Given the description of an element on the screen output the (x, y) to click on. 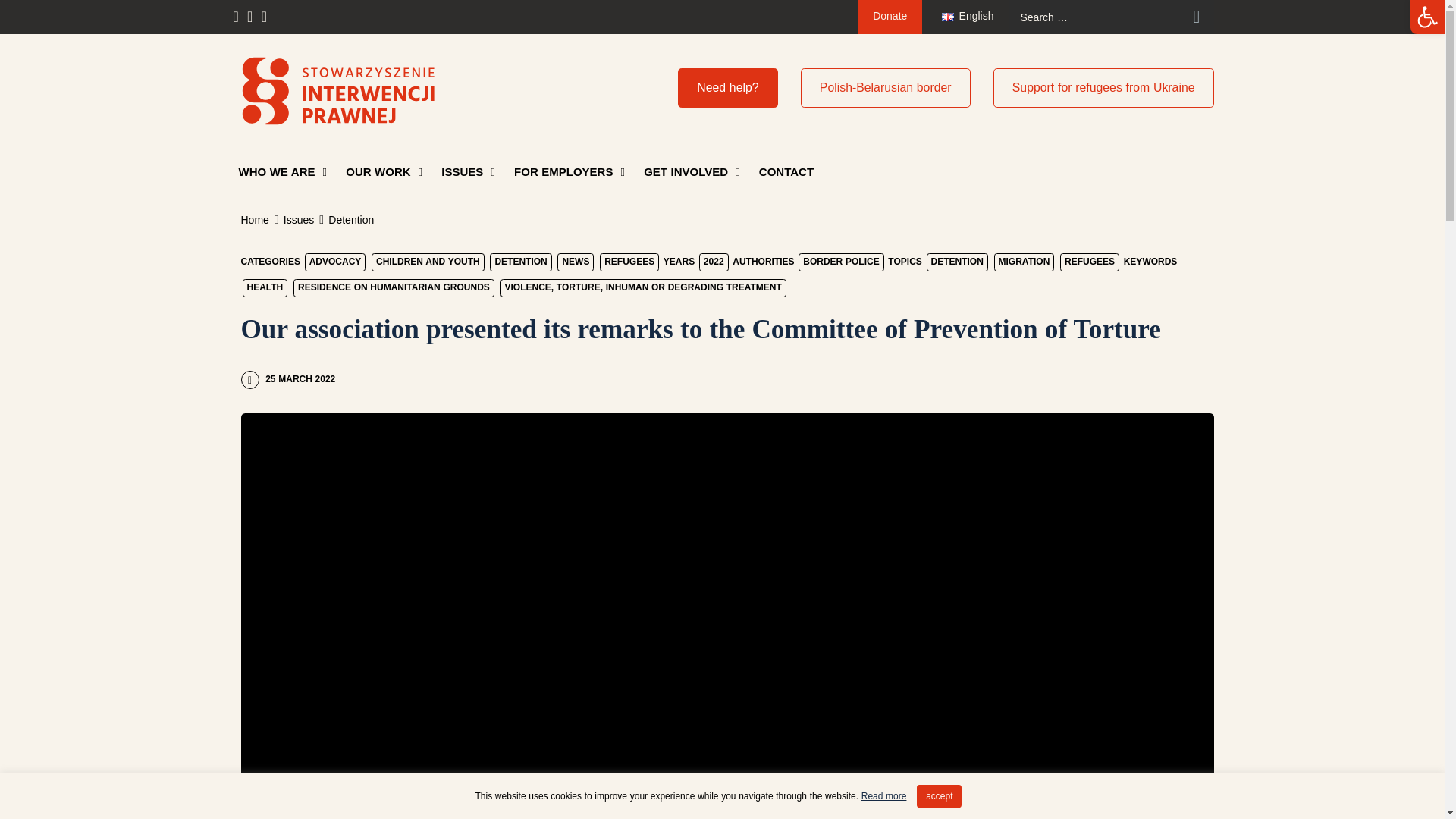
Search (1196, 17)
Polish-Belarusian border (885, 87)
Support for refugees from Ukraine (1103, 87)
OUR WORK (383, 171)
Accessibility Tools (1427, 16)
Search (1196, 17)
English (967, 17)
WHO WE ARE (281, 171)
Search (1196, 17)
Donate (889, 17)
